Given the description of an element on the screen output the (x, y) to click on. 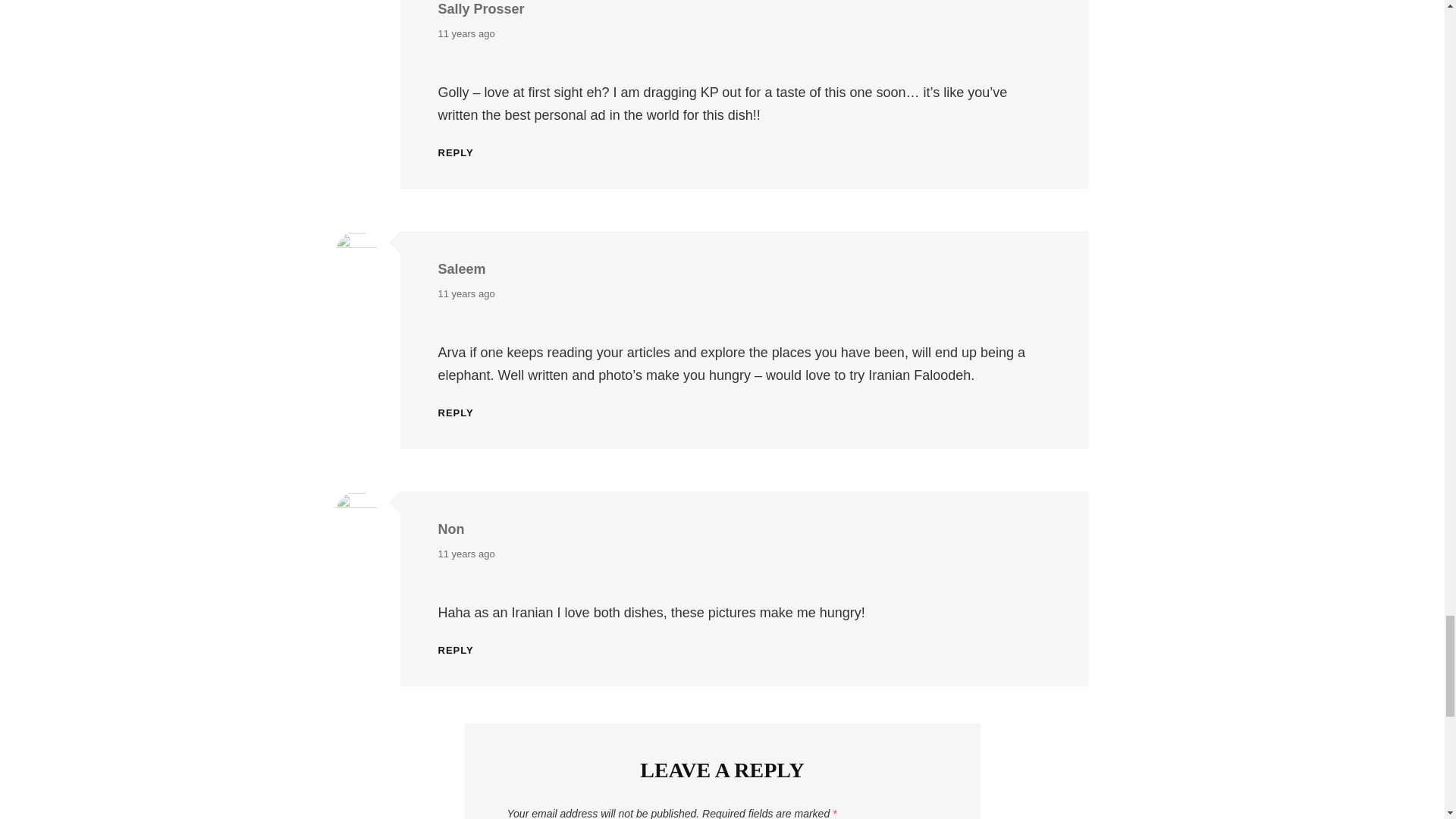
11 years ago (466, 554)
REPLY (456, 650)
11 years ago (466, 293)
11 years ago (466, 34)
REPLY (456, 412)
REPLY (456, 153)
